Given the description of an element on the screen output the (x, y) to click on. 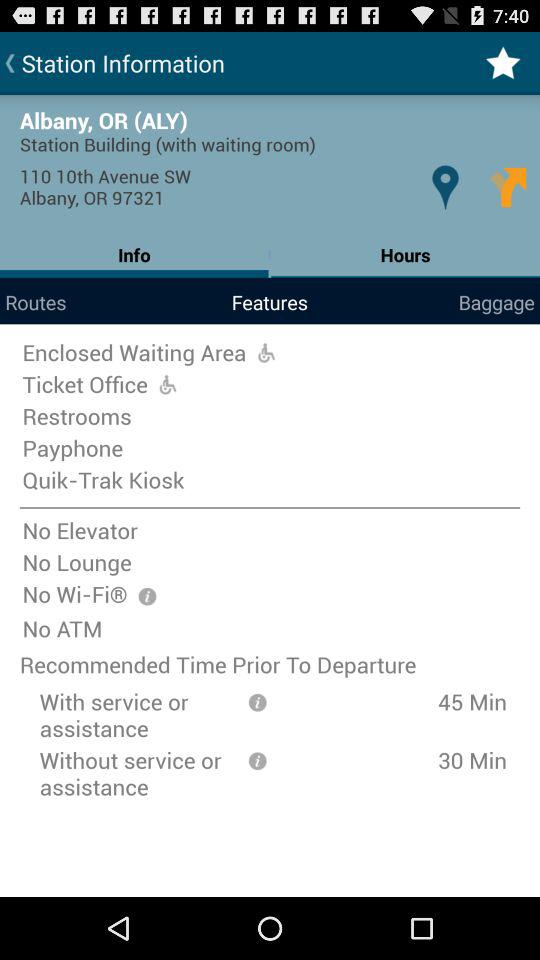
shows infomation about amenities (147, 596)
